Given the description of an element on the screen output the (x, y) to click on. 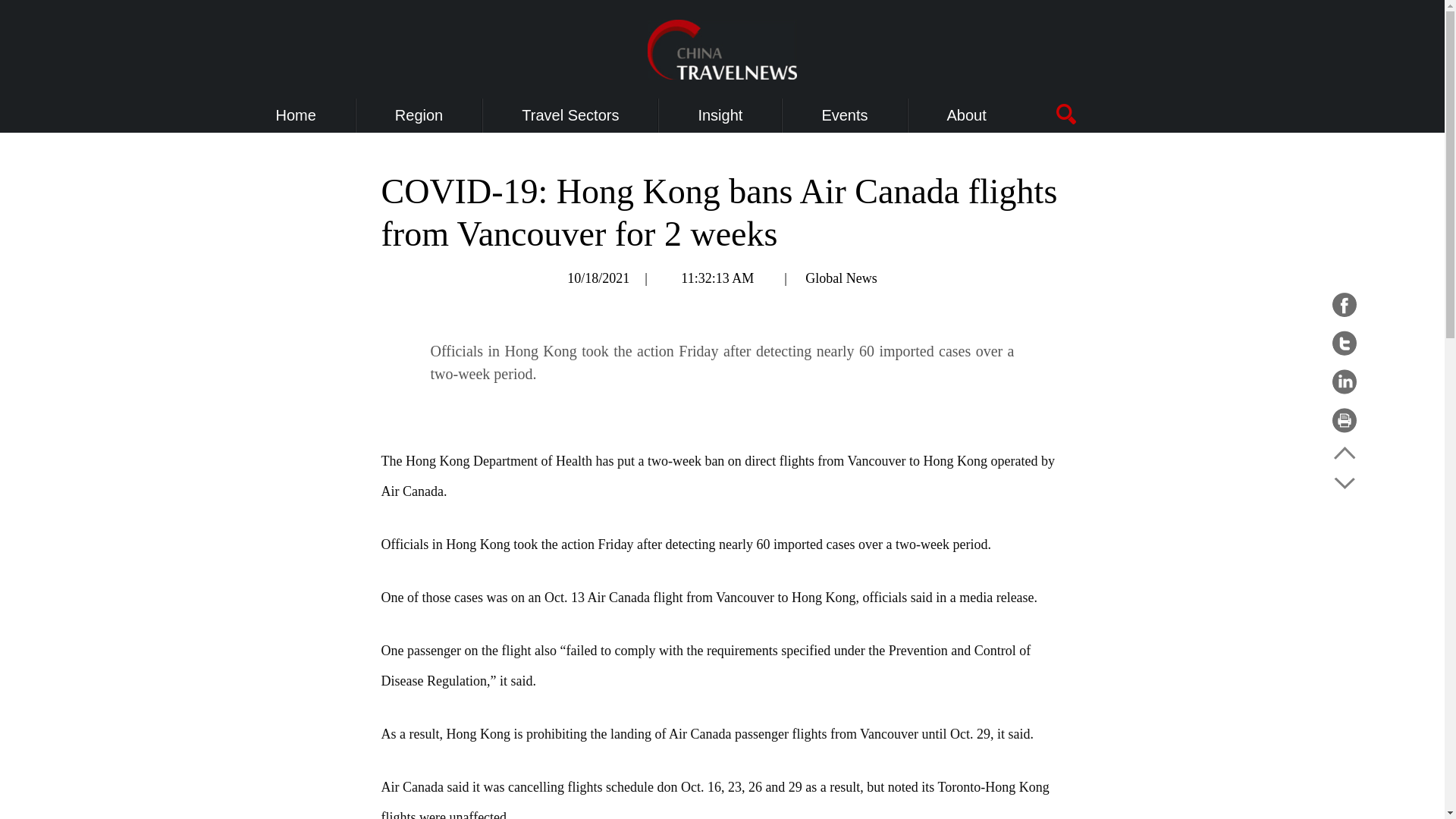
About (967, 115)
Events (844, 115)
Home (295, 115)
